Given the description of an element on the screen output the (x, y) to click on. 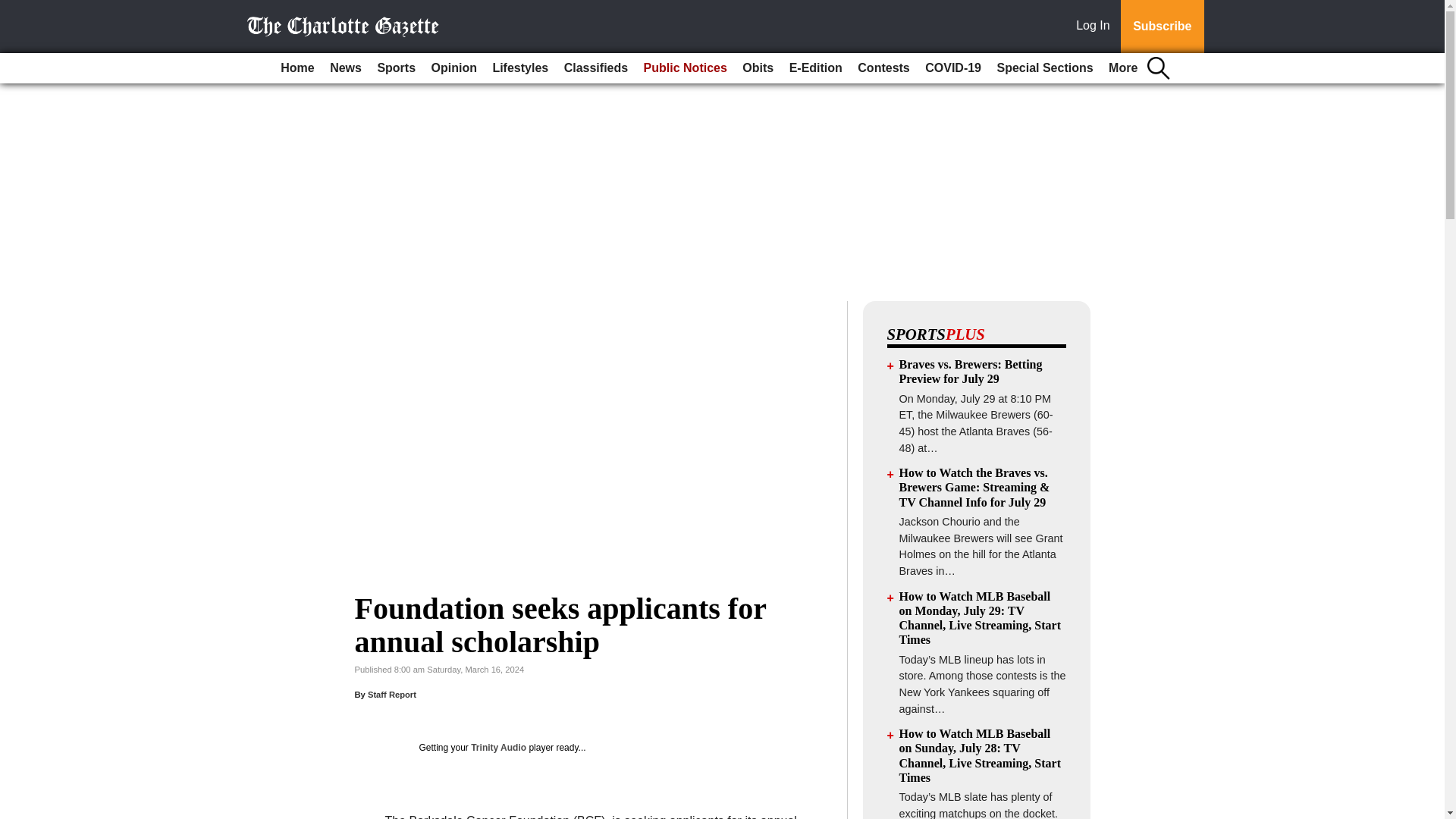
More (1122, 68)
E-Edition (815, 68)
Lifestyles (520, 68)
Sports (396, 68)
Opinion (453, 68)
Staff Report (392, 694)
Public Notices (685, 68)
Braves vs. Brewers: Betting Preview for July 29 (970, 370)
Subscribe (1162, 26)
Classifieds (595, 68)
News (345, 68)
Go (13, 9)
COVID-19 (952, 68)
Trinity Audio (497, 747)
Special Sections (1044, 68)
